Given the description of an element on the screen output the (x, y) to click on. 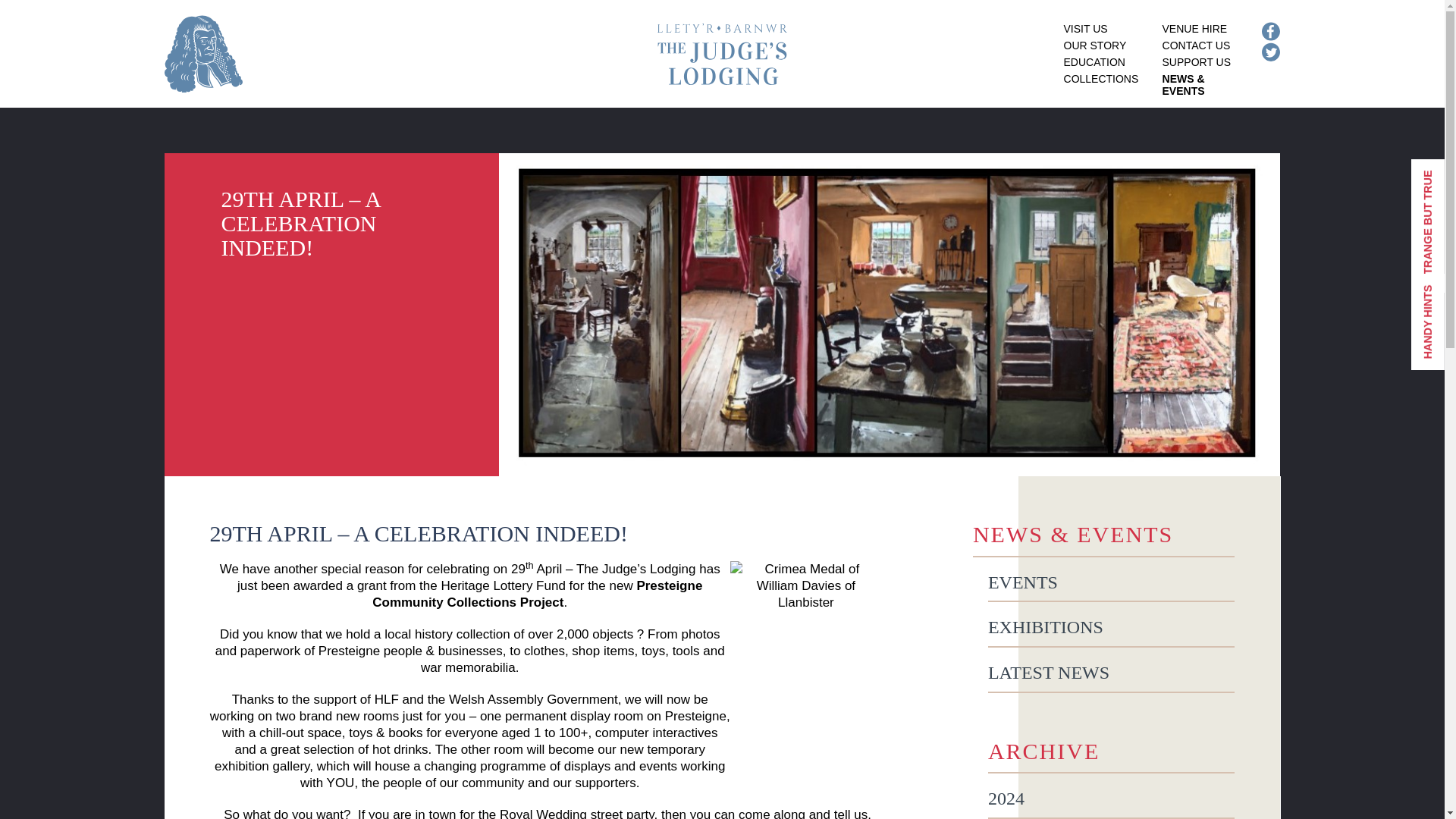
2024 (1111, 798)
SUPPORT US (1196, 61)
CONTACT US (1195, 45)
COLLECTIONS (1101, 78)
OUR STORY (1095, 45)
LATEST NEWS (1111, 672)
EXHIBITIONS (1111, 627)
VISIT US (1086, 28)
VENUE HIRE (1194, 28)
EDUCATION (1094, 61)
